Given the description of an element on the screen output the (x, y) to click on. 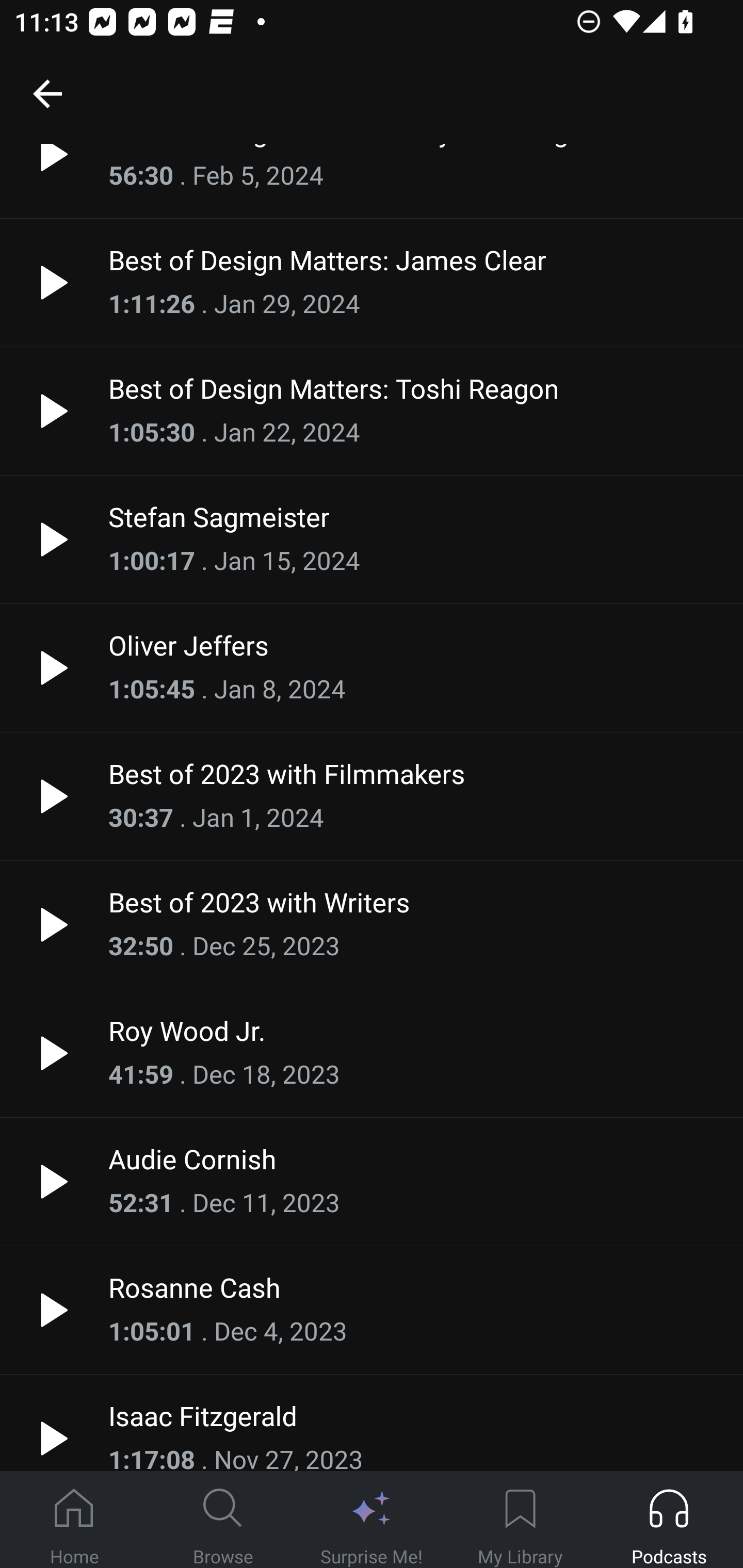
TED Podcasts, back (47, 92)
Stefan Sagmeister 1:00:17 . Jan 15, 2024 (371, 539)
Oliver Jeffers 1:05:45 . Jan 8, 2024 (371, 667)
Best of 2023 with Filmmakers 30:37 . Jan 1, 2024 (371, 796)
Best of 2023 with Writers 32:50 . Dec 25, 2023 (371, 924)
Roy Wood Jr. 41:59 . Dec 18, 2023 (371, 1052)
Audie Cornish 52:31 . Dec 11, 2023 (371, 1180)
Rosanne Cash 1:05:01 . Dec 4, 2023 (371, 1309)
Isaac Fitzgerald 1:17:08 . Nov 27, 2023 (371, 1422)
Home (74, 1520)
Browse (222, 1520)
Surprise Me! (371, 1520)
My Library (519, 1520)
Podcasts (668, 1520)
